Given the description of an element on the screen output the (x, y) to click on. 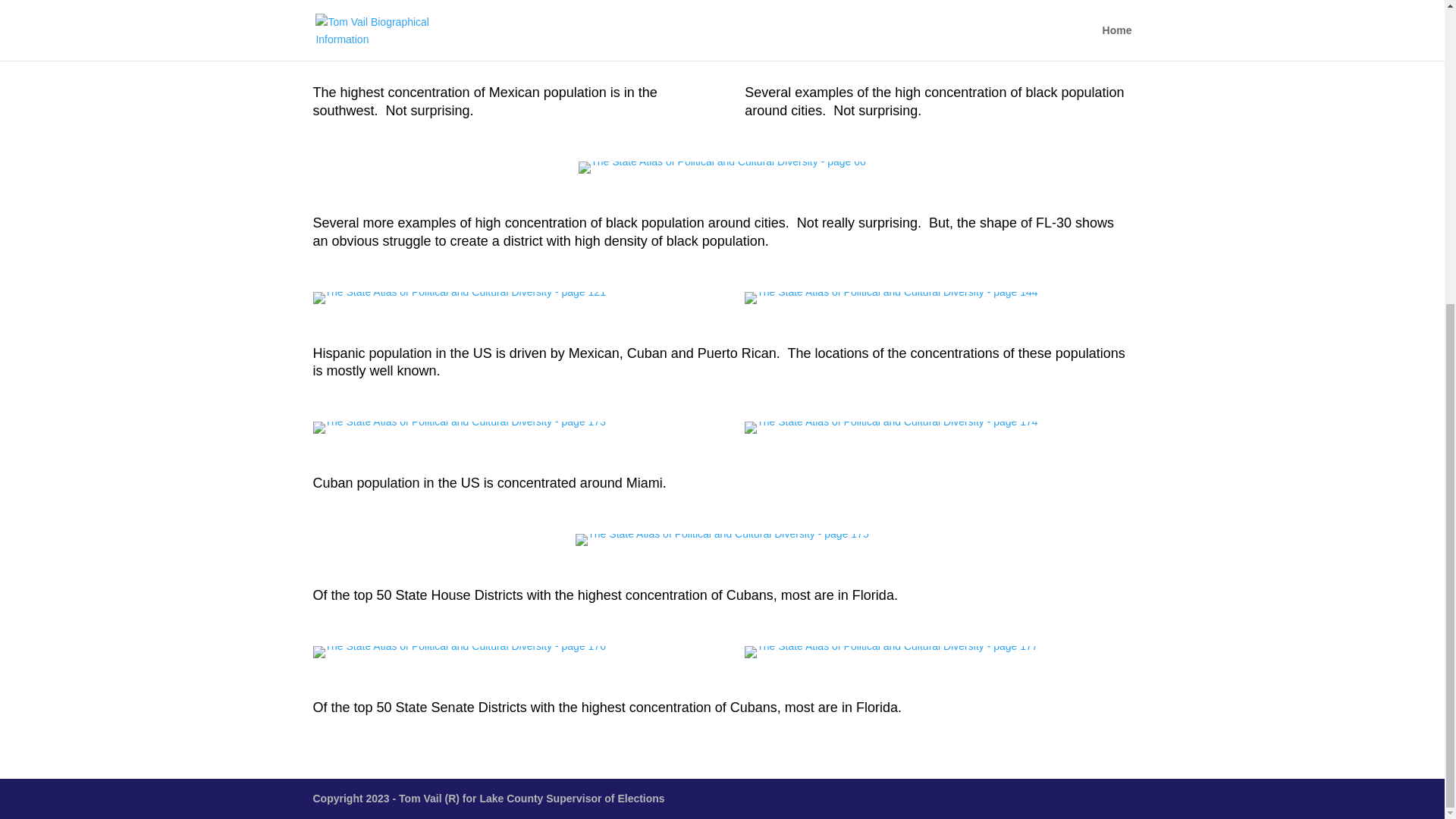
The State Atlas of Political and Cultural Diversity - page 8 (453, 30)
book 3 - page 8 - thumbnail (453, 37)
book 3 - page 37 - thumbnail (888, 37)
